Given the description of an element on the screen output the (x, y) to click on. 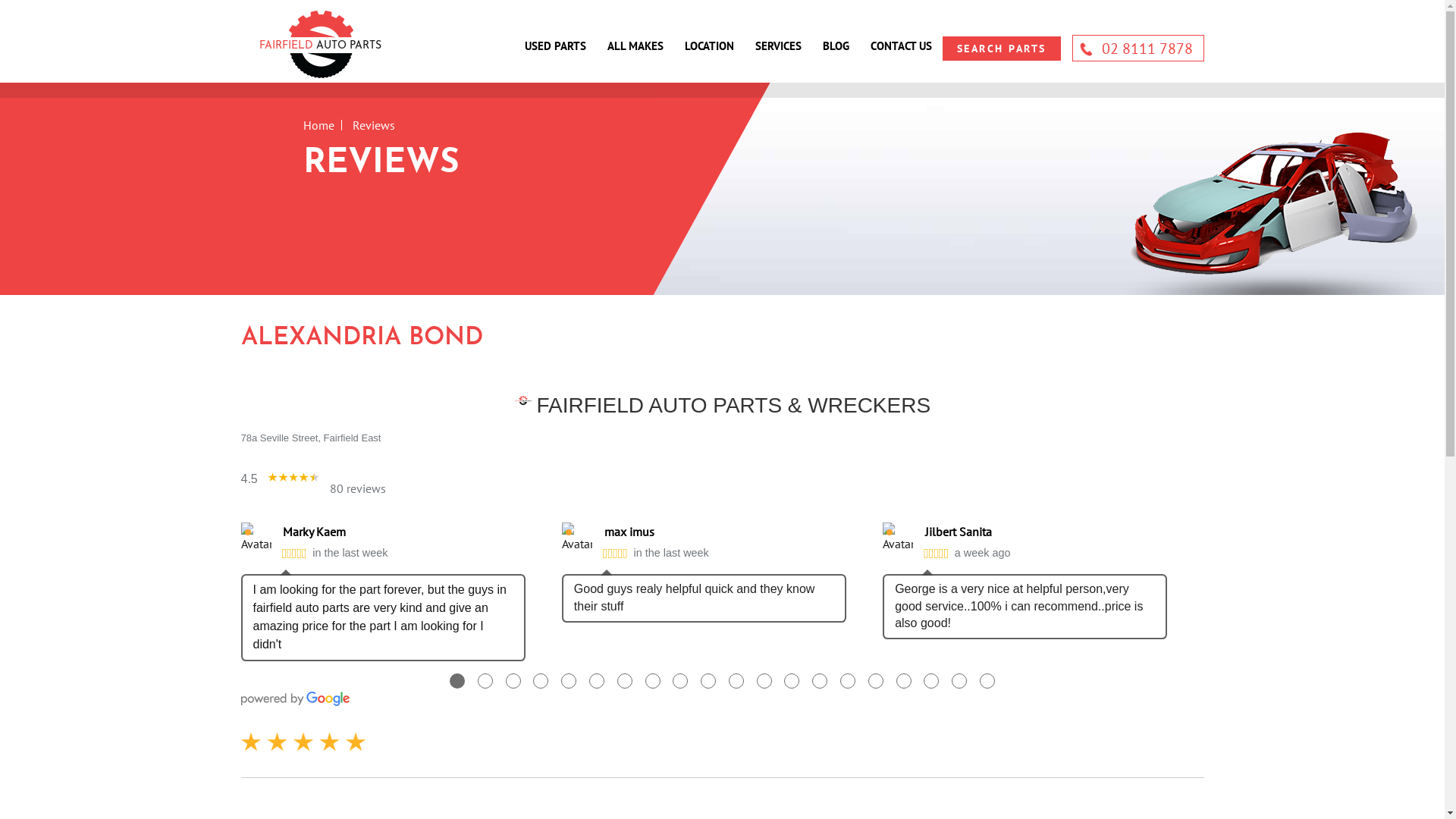
LOCATION Element type: text (713, 47)
Jilbert Sanita Element type: text (1046, 531)
Reviews Element type: hover (1274, 205)
SERVICES Element type: text (783, 47)
Marky Kaem Element type: text (403, 531)
80 reviews Element type: text (357, 487)
ALL MAKES Element type: text (639, 47)
max imus Element type: text (725, 531)
CONTACT US Element type: text (900, 47)
SEARCH PARTS Element type: text (1000, 48)
FAIRFIELD AUTO PARTS Element type: text (320, 44)
Home Element type: text (318, 125)
Customer Review Element type: hover (303, 741)
Fairfield Auto Parts Element type: hover (319, 44)
BLOG Element type: text (840, 47)
Powered by Google Element type: hover (295, 698)
USED PARTS Element type: text (560, 47)
02 8111 7878 Element type: text (1138, 47)
